Given the description of an element on the screen output the (x, y) to click on. 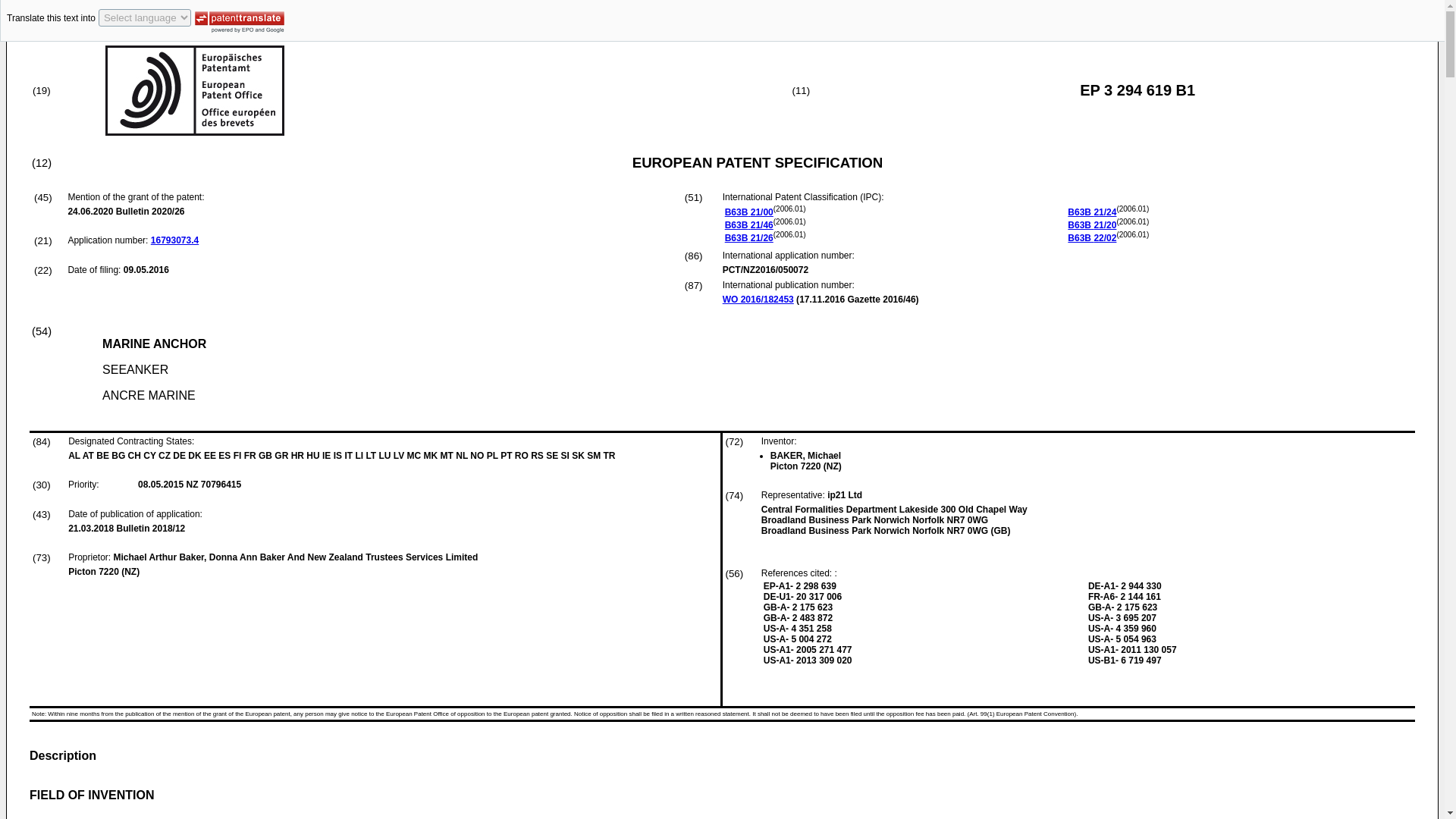
16793073.4 (174, 240)
patent translate (239, 18)
Description (62, 755)
